Given the description of an element on the screen output the (x, y) to click on. 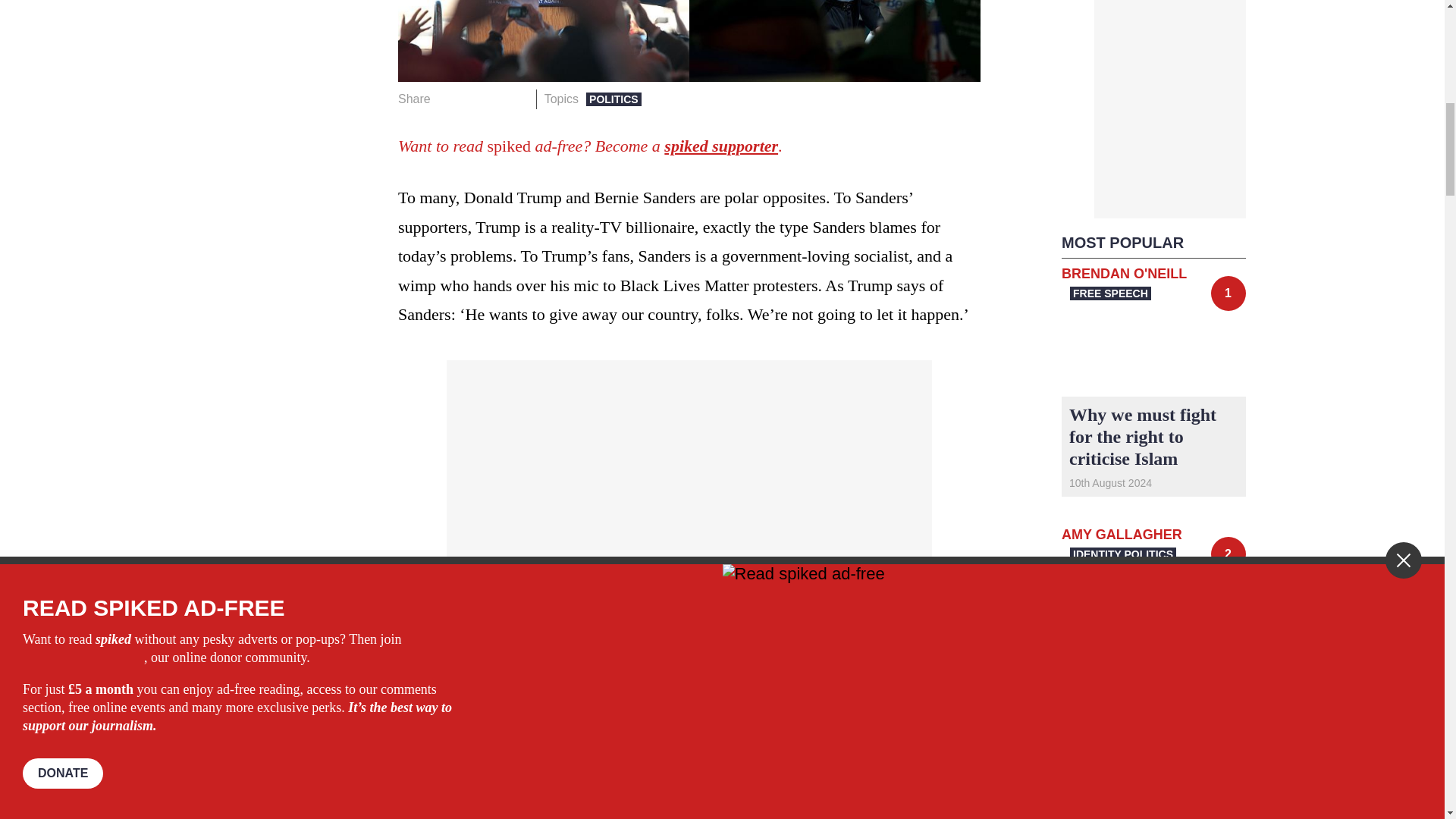
Share on Whatsapp (494, 98)
Share on Facebook (448, 98)
Share on Twitter (471, 98)
Share on Email (518, 98)
